Given the description of an element on the screen output the (x, y) to click on. 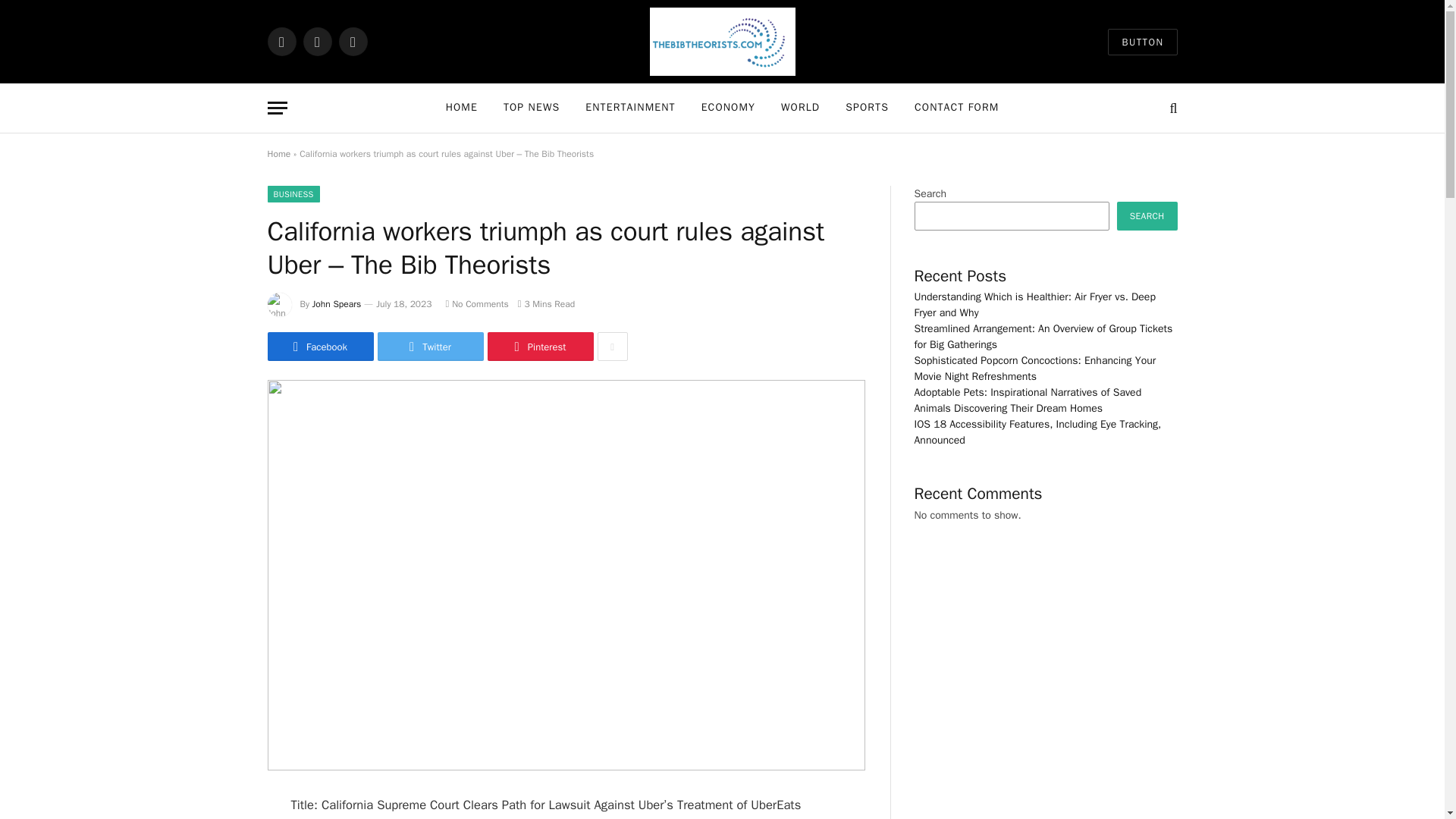
Pinterest (539, 346)
ENTERTAINMENT (629, 107)
Share on Facebook (319, 346)
BUTTON (1142, 41)
Share on Pinterest (539, 346)
Home (277, 153)
The Bib Theorists (721, 41)
No Comments (476, 304)
TOP NEWS (531, 107)
SPORTS (866, 107)
Show More Social Sharing (611, 346)
Instagram (351, 41)
BUSINESS (292, 193)
Posts by John Spears (337, 304)
Facebook (280, 41)
